Given the description of an element on the screen output the (x, y) to click on. 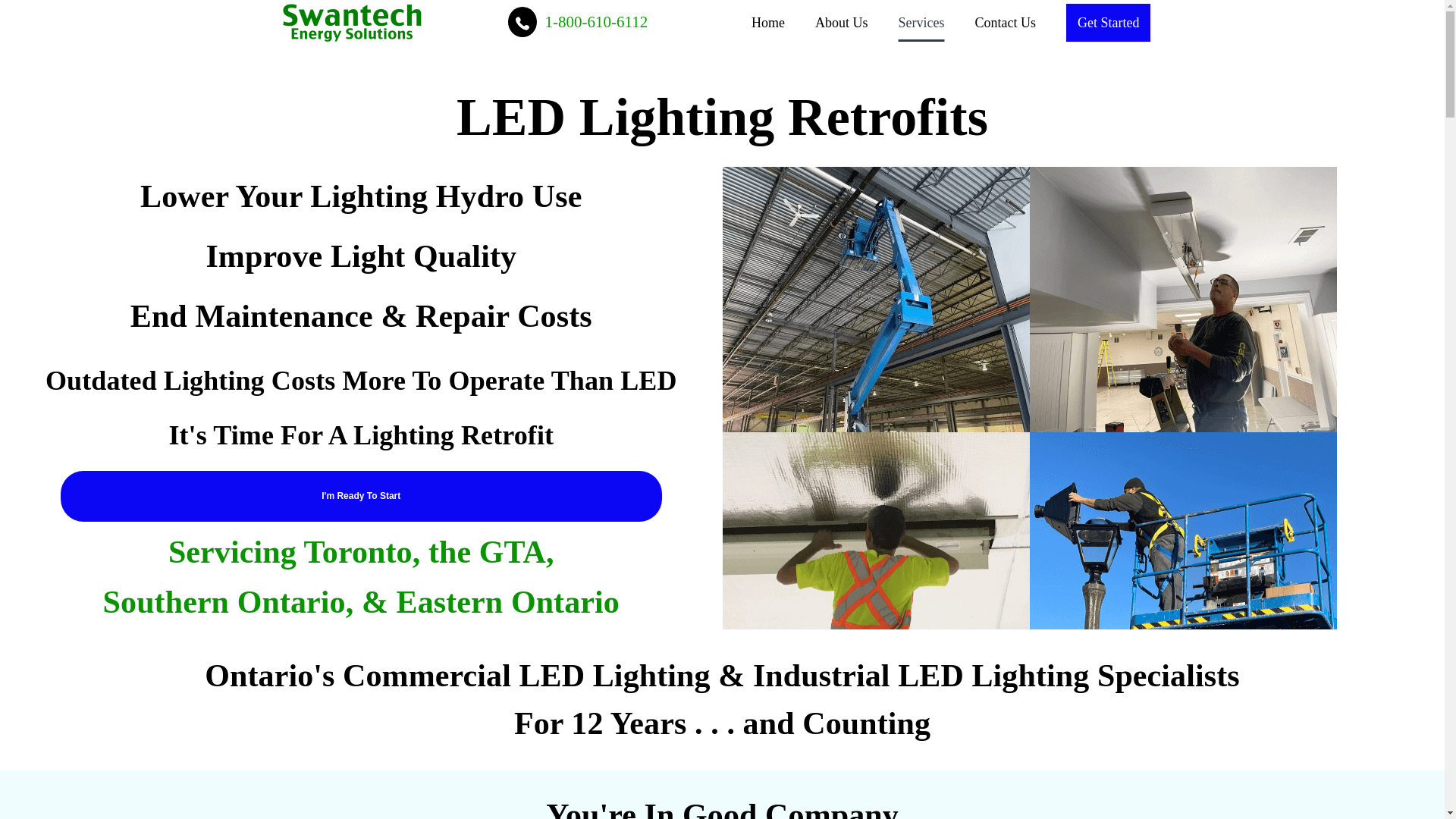
Services (921, 22)
Swantech Energy Solutions (352, 21)
Contact Us (361, 495)
Contact Us (1005, 22)
I'm Ready To Start (361, 495)
Get Started (1107, 22)
About Us (841, 22)
Home (767, 22)
1-800-610-6112 (577, 22)
